Given the description of an element on the screen output the (x, y) to click on. 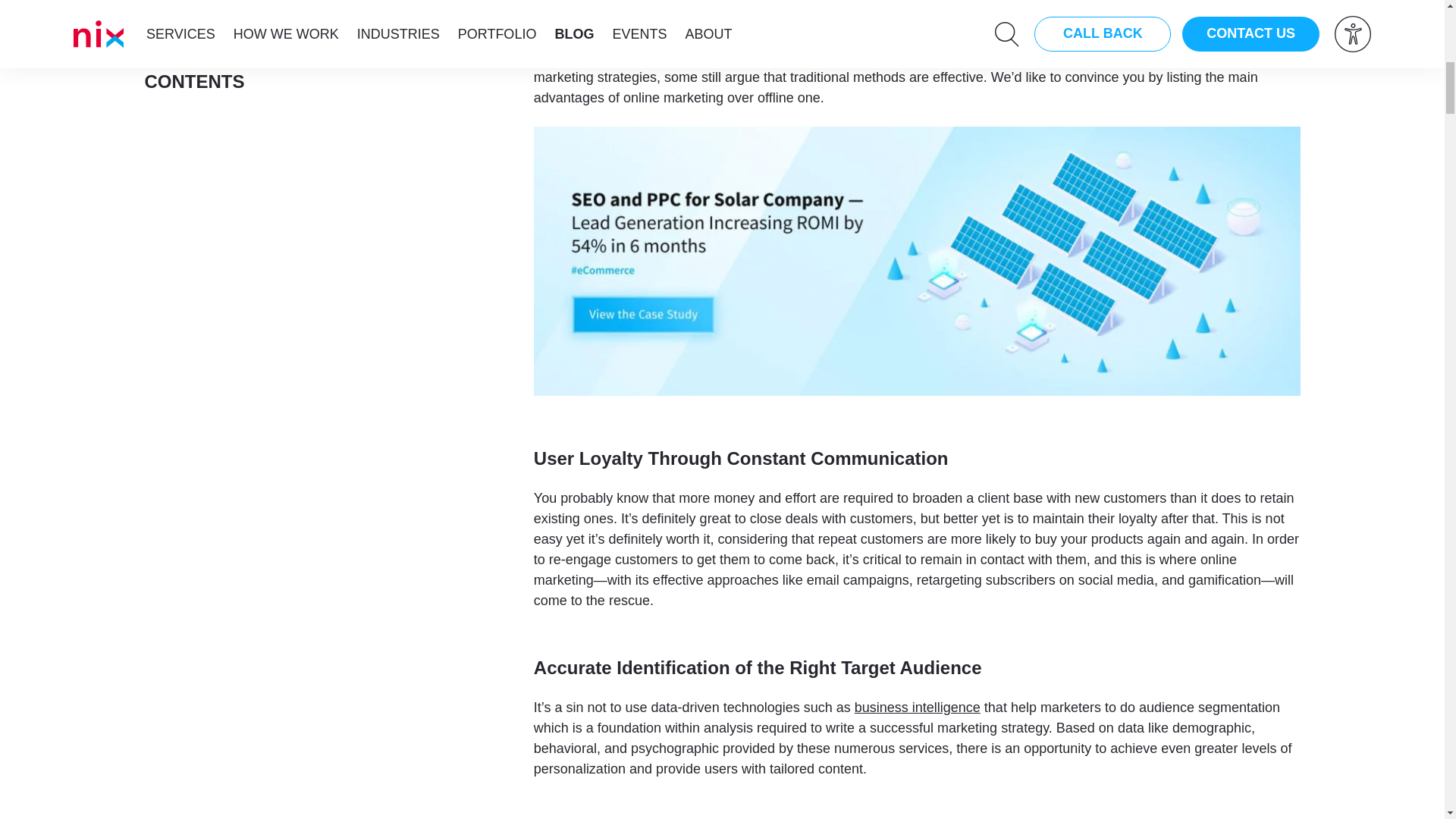
Display Ads Examples (785, 36)
Business Intelligence Success Stories (916, 707)
SEO and Digital Marketing (969, 36)
